Given the description of an element on the screen output the (x, y) to click on. 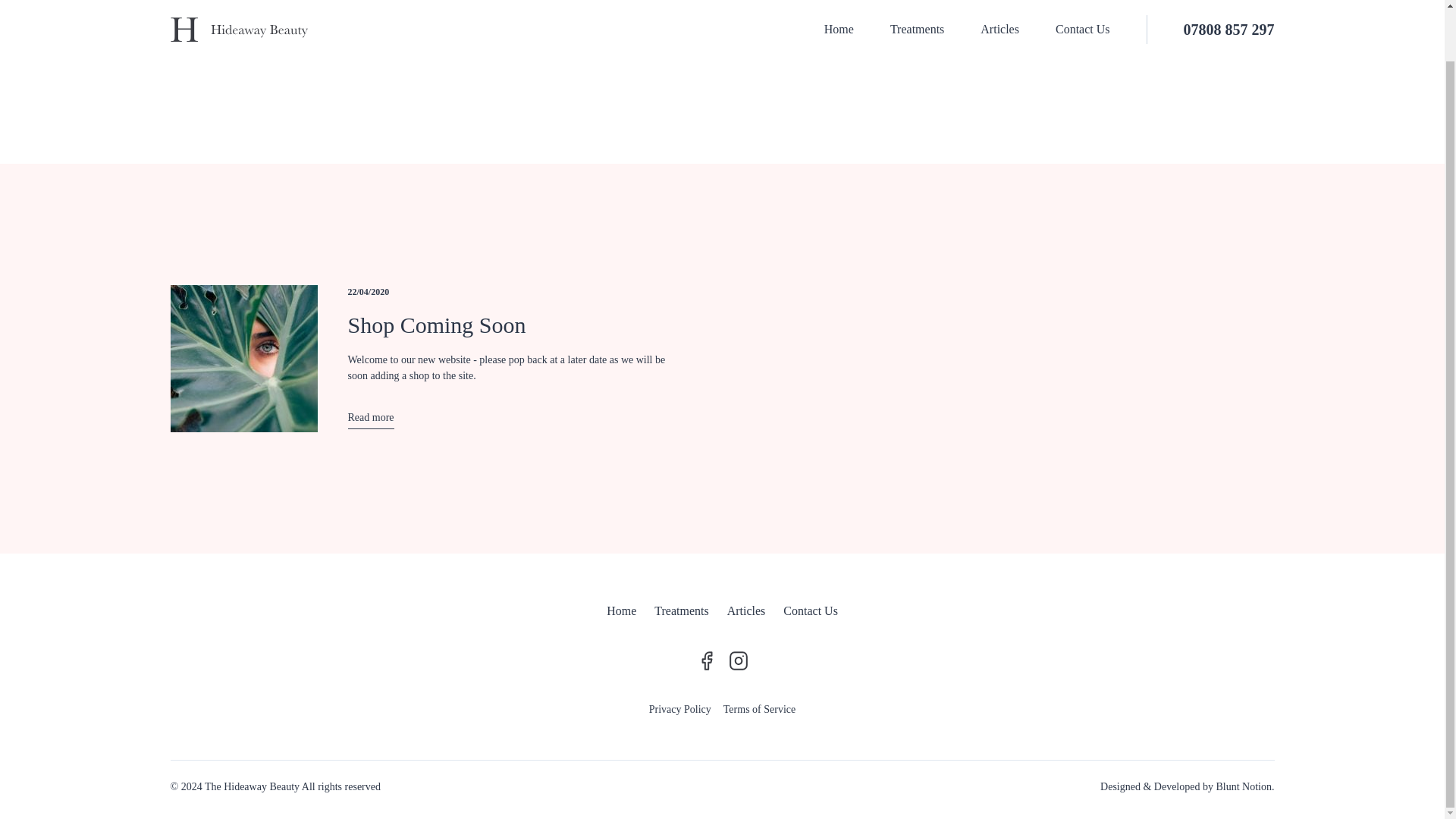
Blunt Notion. (1244, 788)
Read our privacy policy (680, 711)
Privacy Policy (680, 711)
Shop Coming Soon (436, 324)
Contact Us (810, 612)
The Hideaway Beauty Instagram (738, 660)
Read article: Shop Coming Soon (370, 419)
The Hideaway Beauty Facebook (706, 660)
Treatments (680, 612)
Read our terms of service (758, 711)
Terms of Service (758, 711)
Home (621, 612)
Read more (370, 419)
Articles (745, 612)
